Given the description of an element on the screen output the (x, y) to click on. 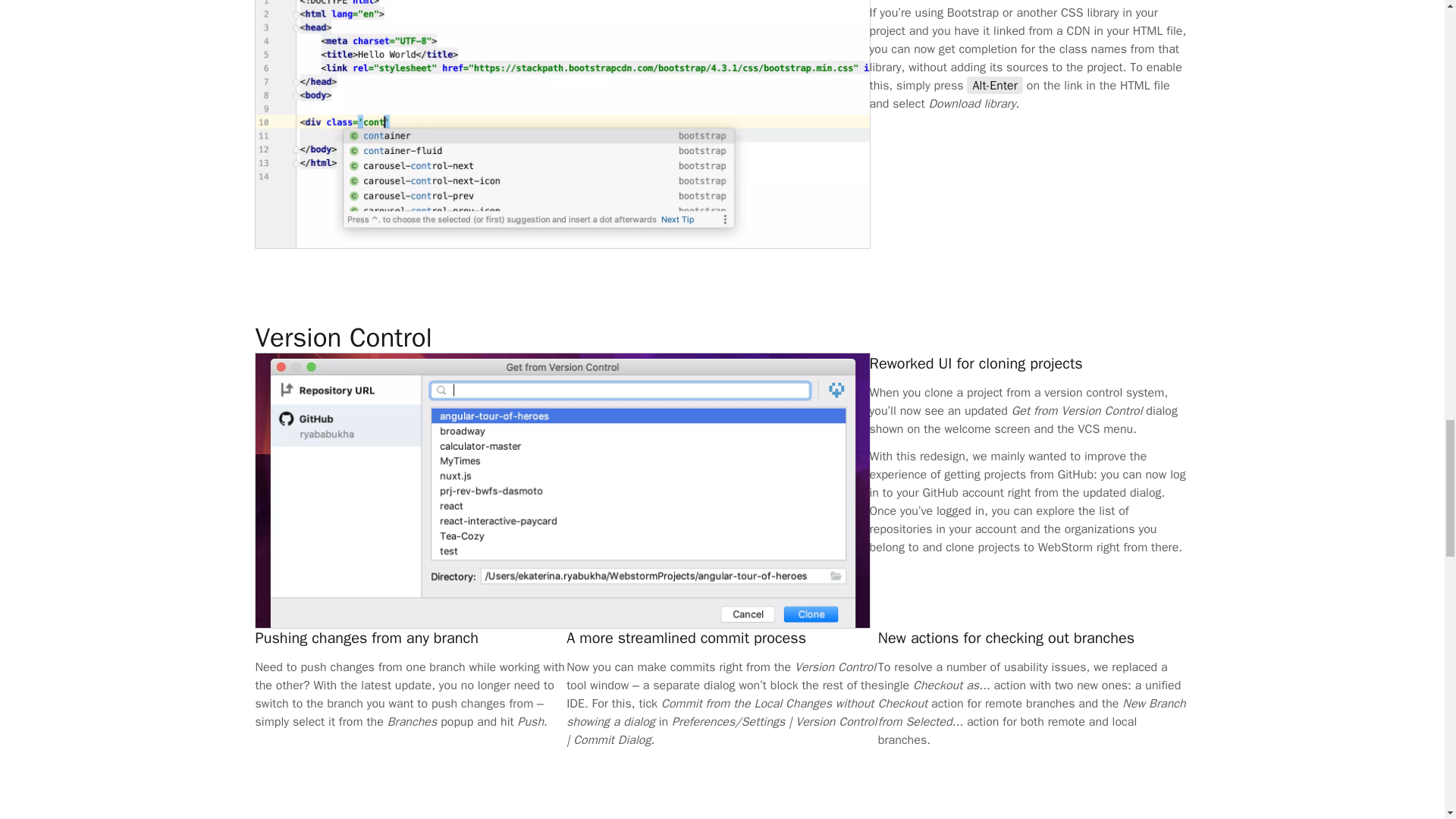
Reworked UI for cloning projects (515, 336)
